Given the description of an element on the screen output the (x, y) to click on. 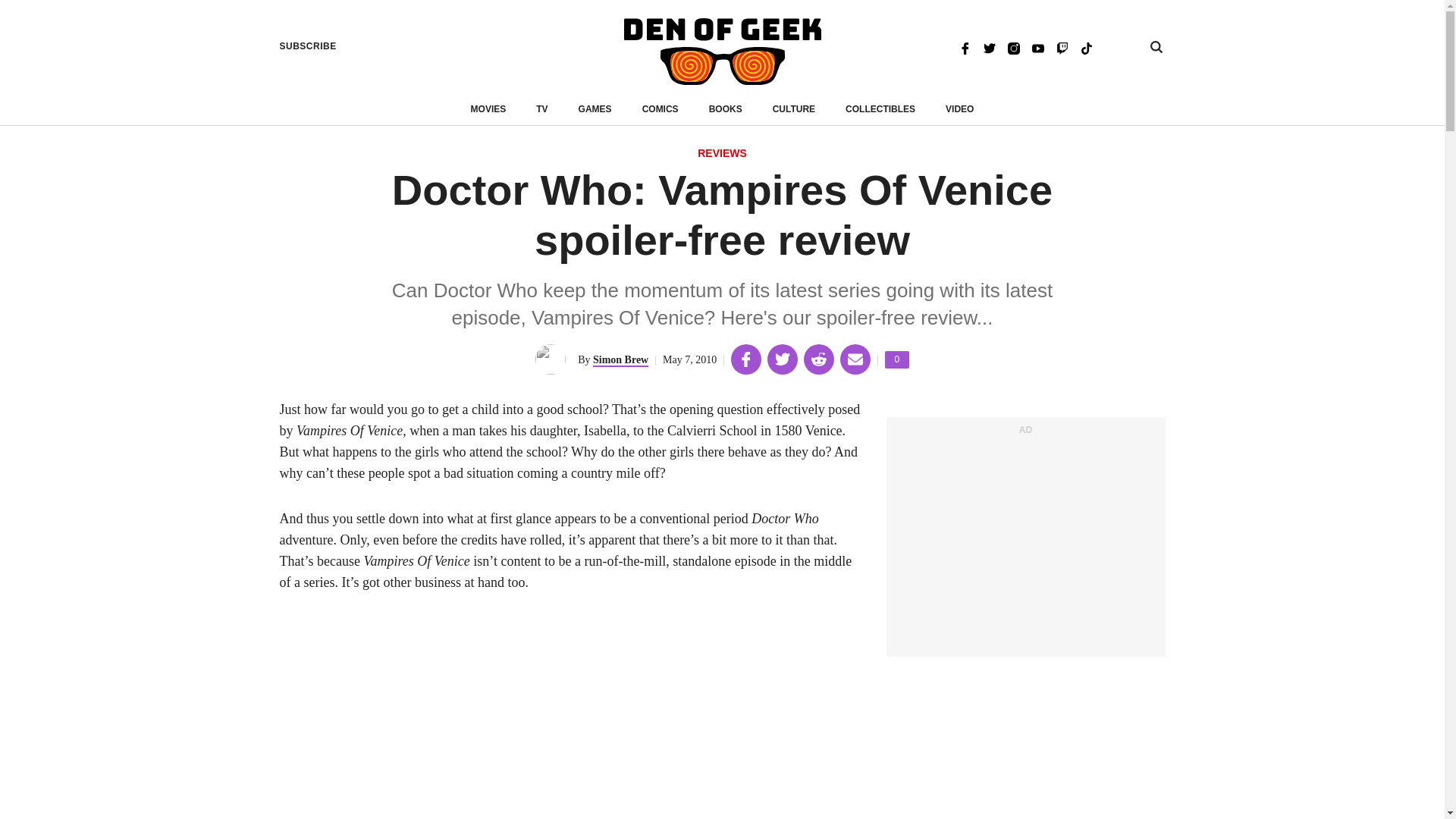
COMICS (660, 109)
BOOKS (725, 109)
SUBSCRIBE (307, 46)
TikTok (1085, 46)
VIDEO (959, 109)
MOVIES (488, 109)
COLLECTIBLES (896, 359)
Den of Geek (880, 109)
Simon Brew (722, 52)
